Given the description of an element on the screen output the (x, y) to click on. 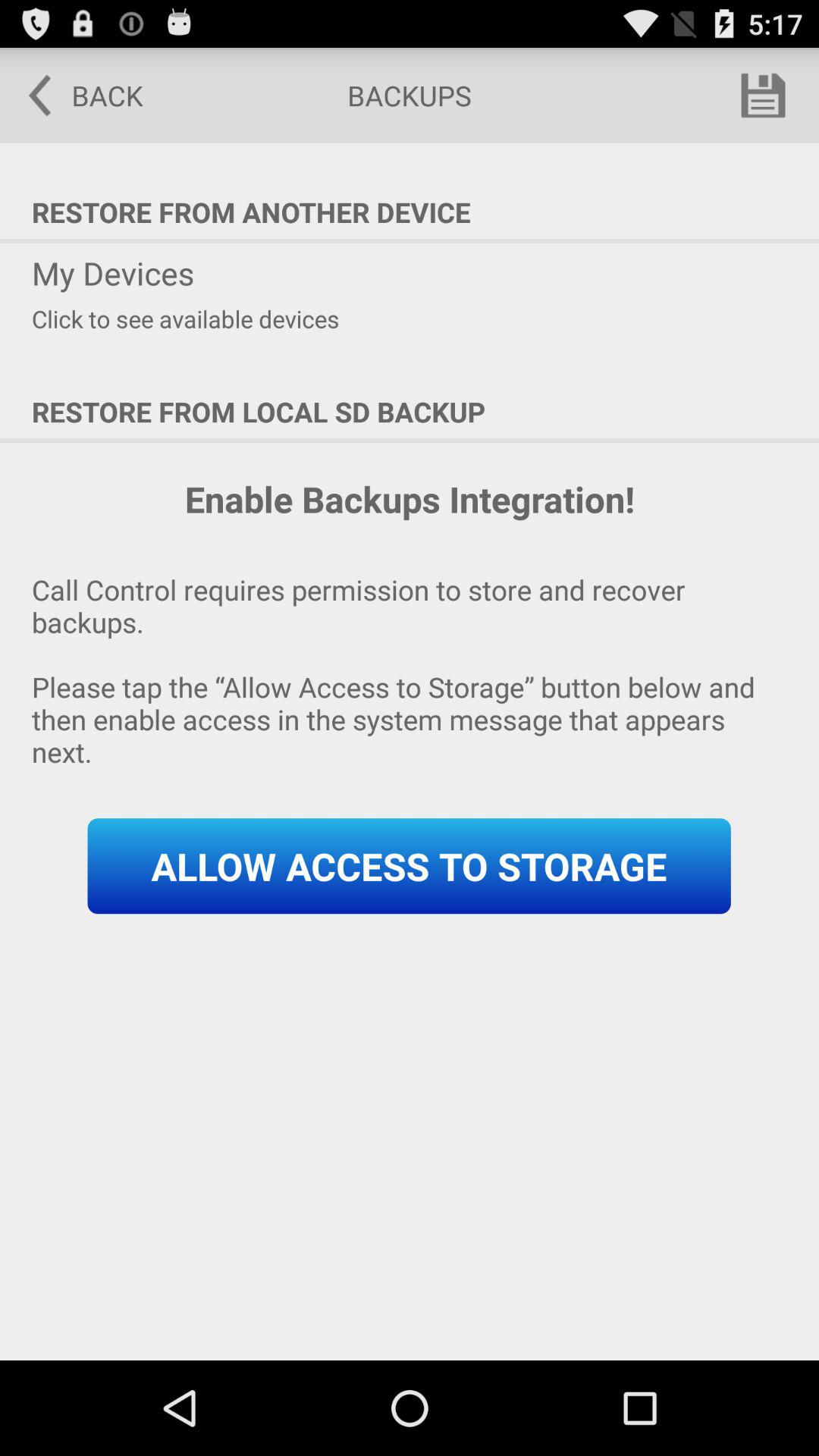
press the item to the right of backups (763, 95)
